Given the description of an element on the screen output the (x, y) to click on. 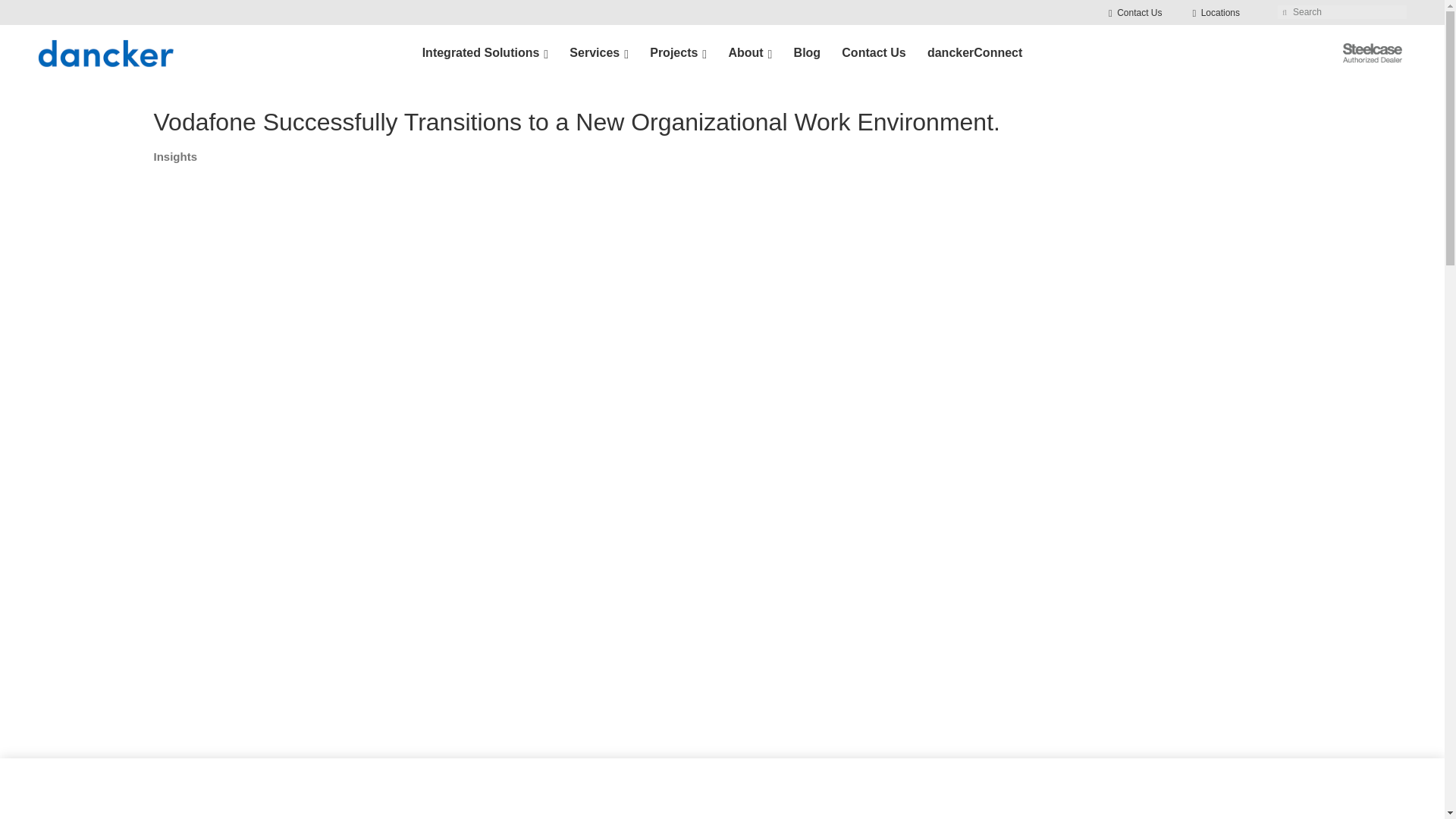
Services (598, 53)
Integrated Solutions (485, 53)
Submit Search (1284, 11)
Contact Us (873, 53)
Contact Us (1134, 12)
About (749, 53)
Steelcase Authorized Dealer (1372, 53)
Locations (1216, 12)
Insights (174, 155)
Projects (678, 53)
danckerConnect (974, 53)
